Given the description of an element on the screen output the (x, y) to click on. 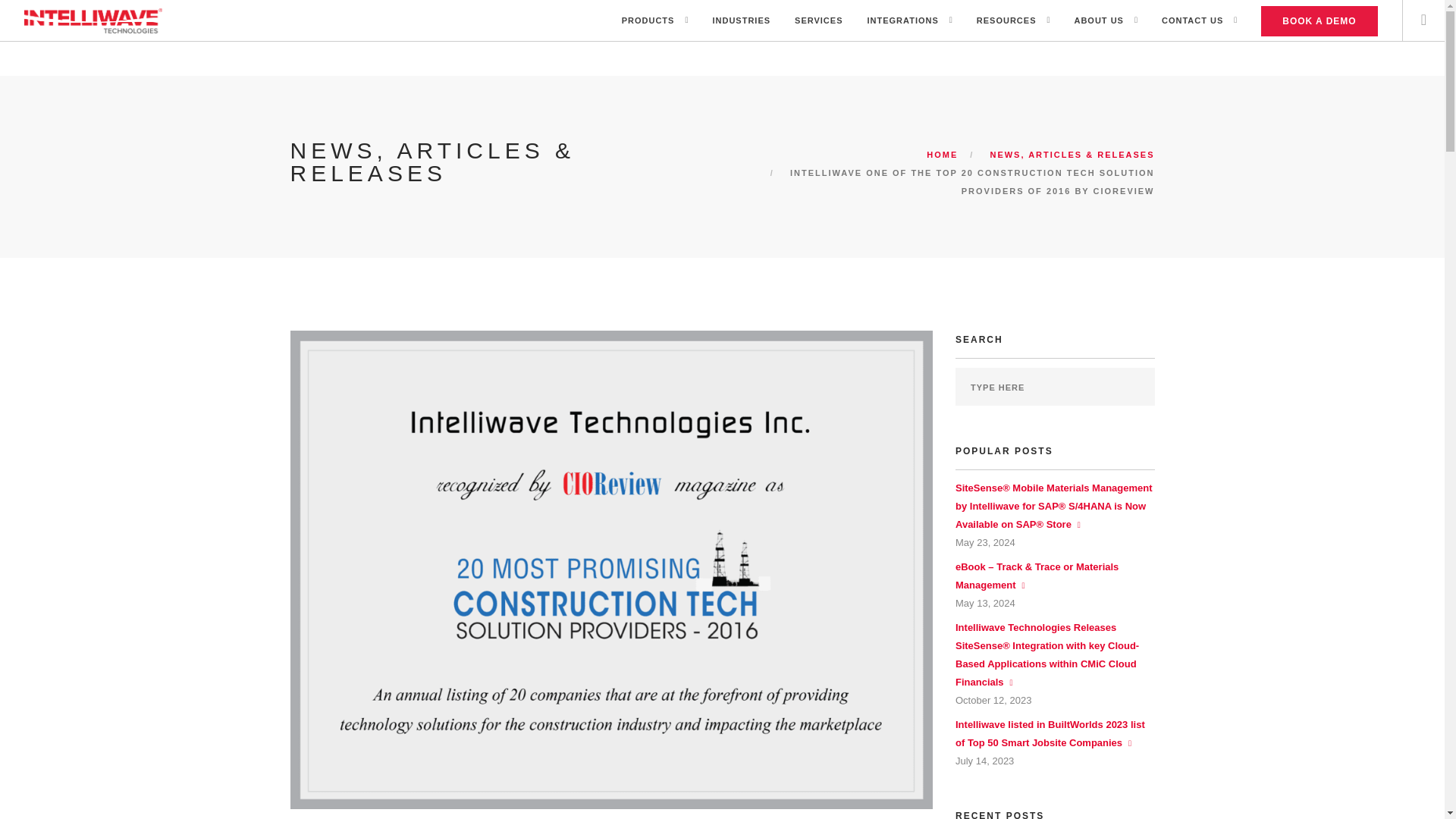
SERVICES (818, 21)
INTEGRATIONS (903, 21)
CONTACT US (1192, 21)
INDUSTRIES (740, 21)
ABOUT US (1098, 21)
RESOURCES (1006, 21)
PRODUCTS (648, 21)
